Given the description of an element on the screen output the (x, y) to click on. 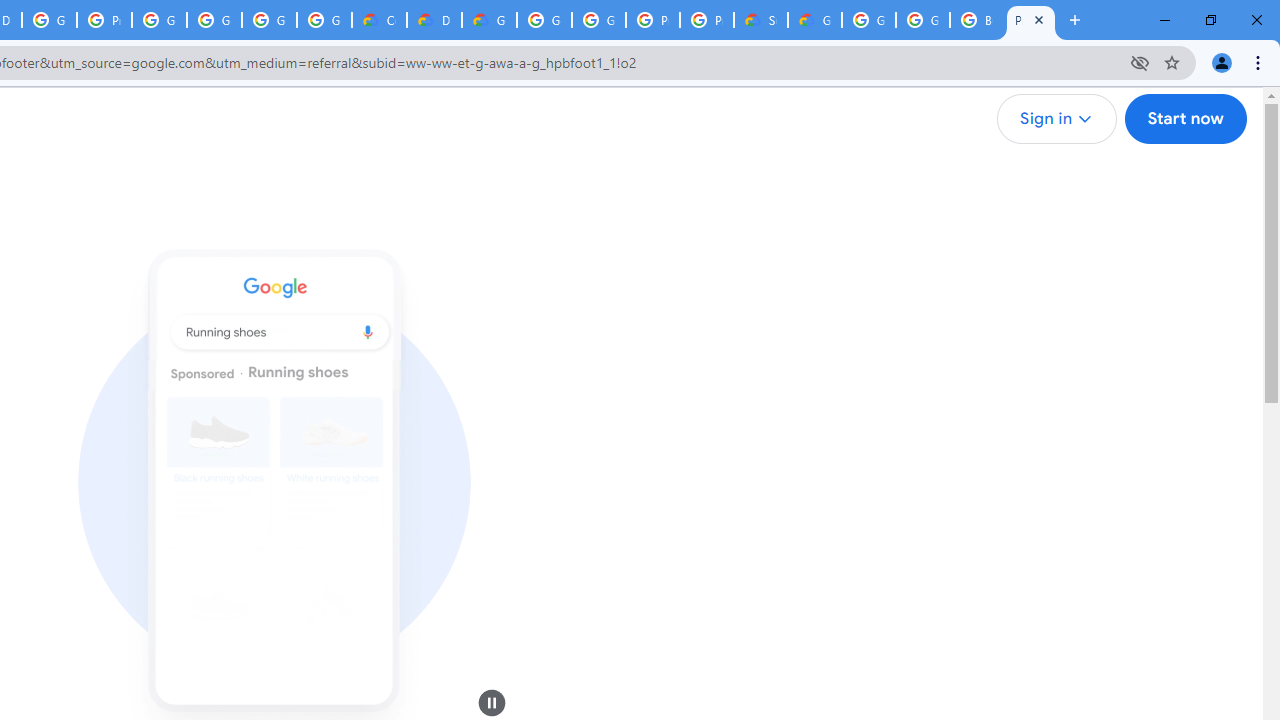
Start now (1184, 119)
Customer Care | Google Cloud (379, 20)
Gemini for Business and Developers | Google Cloud (489, 20)
Google Workspace - Specific Terms (268, 20)
Google Cloud Platform (922, 20)
Google Cloud Platform (544, 20)
Google Cloud Platform (598, 20)
